Given the description of an element on the screen output the (x, y) to click on. 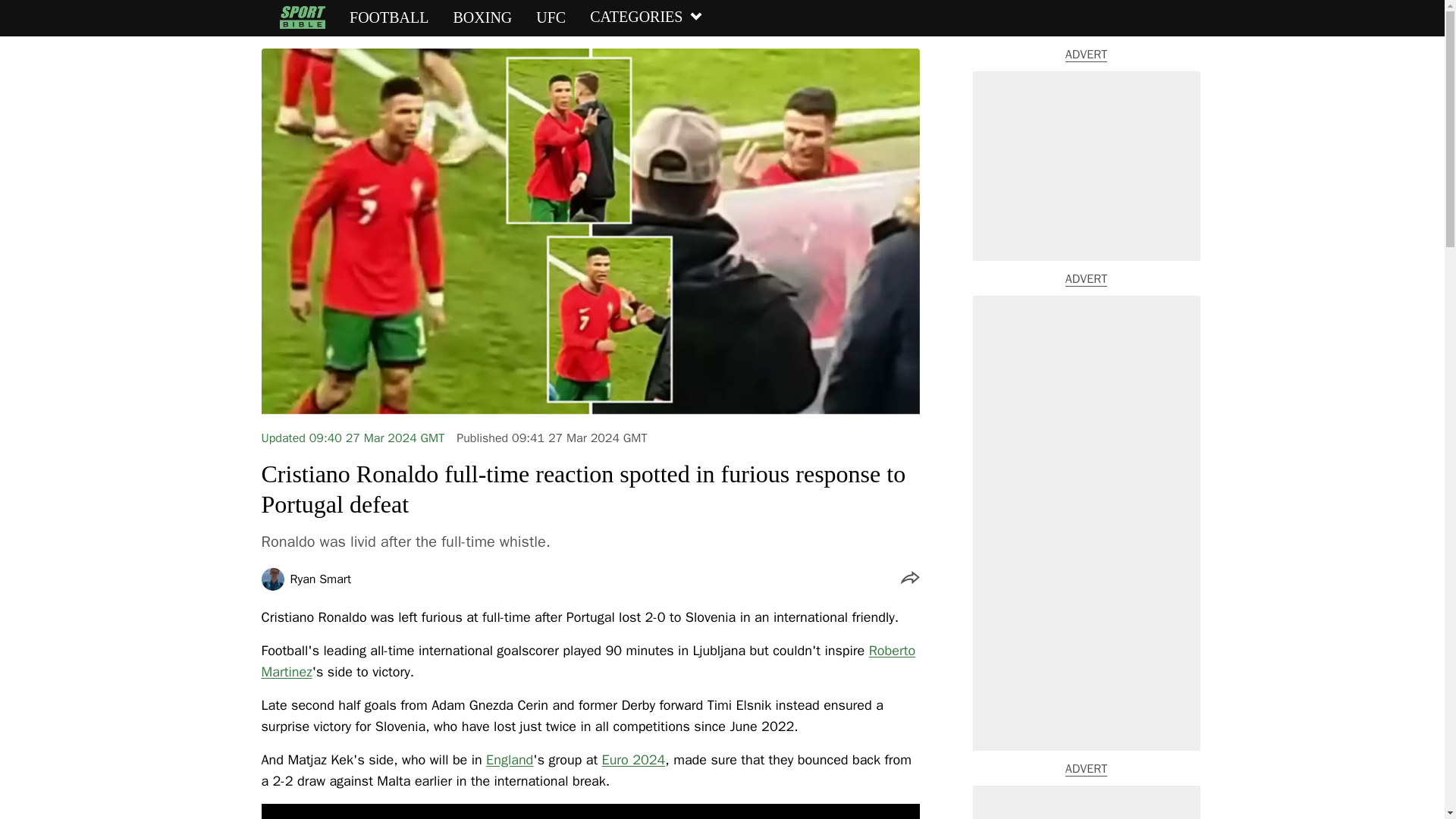
FOOTBALL (388, 17)
BOXING (482, 17)
3rd party ad content (1085, 802)
3rd party ad content (1085, 166)
